Given the description of an element on the screen output the (x, y) to click on. 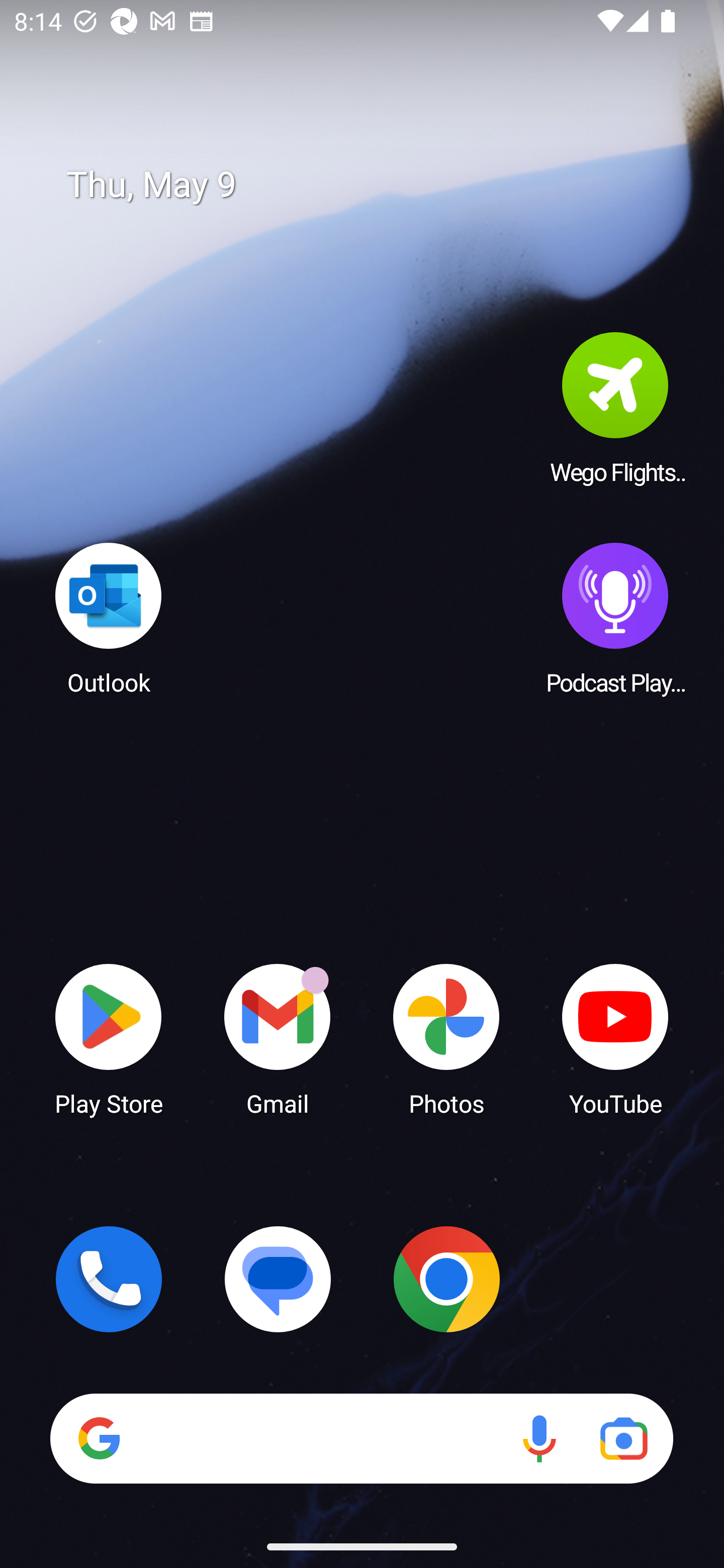
Thu, May 9 (375, 184)
Wego Flights & Hotels (615, 407)
Outlook (108, 617)
Podcast Player (615, 617)
Play Store (108, 1038)
Gmail Gmail has 18 notifications (277, 1038)
Photos (445, 1038)
YouTube (615, 1038)
Phone (108, 1279)
Messages (277, 1279)
Chrome (446, 1279)
Search Voice search Google Lens (361, 1438)
Voice search (539, 1438)
Google Lens (623, 1438)
